Given the description of an element on the screen output the (x, y) to click on. 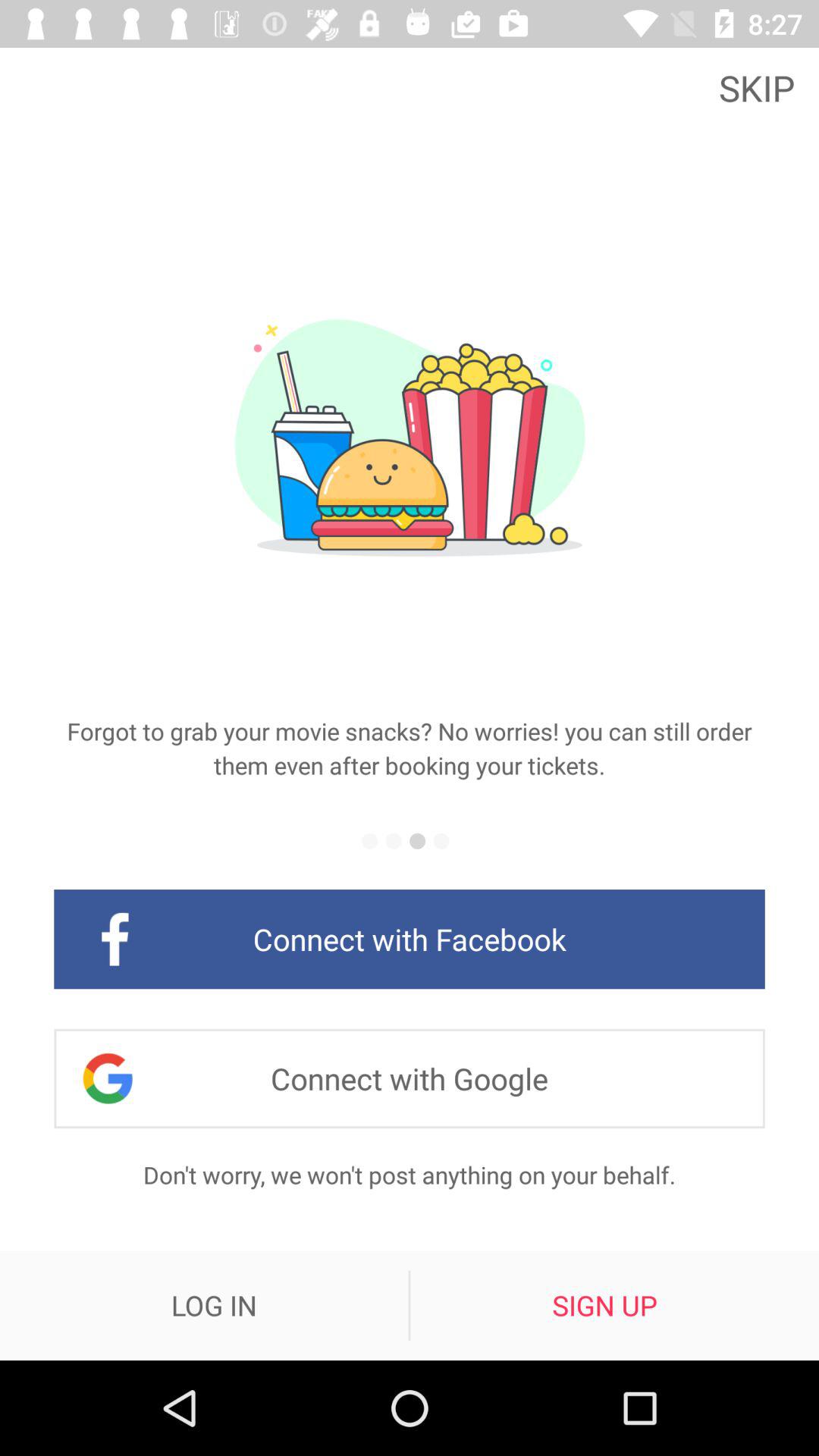
select item below don t worry (604, 1305)
